Given the description of an element on the screen output the (x, y) to click on. 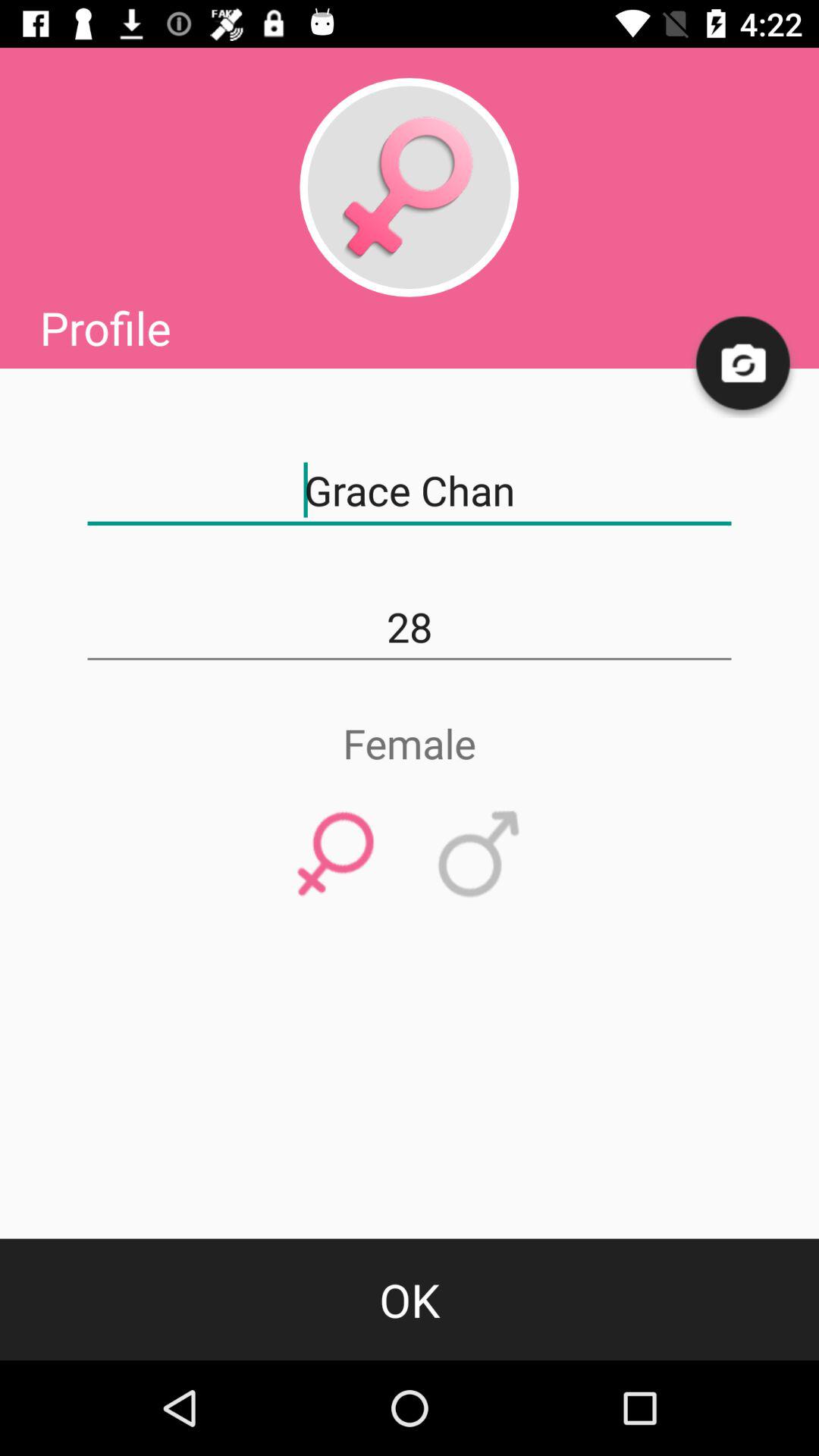
rotate photo (744, 364)
